Given the description of an element on the screen output the (x, y) to click on. 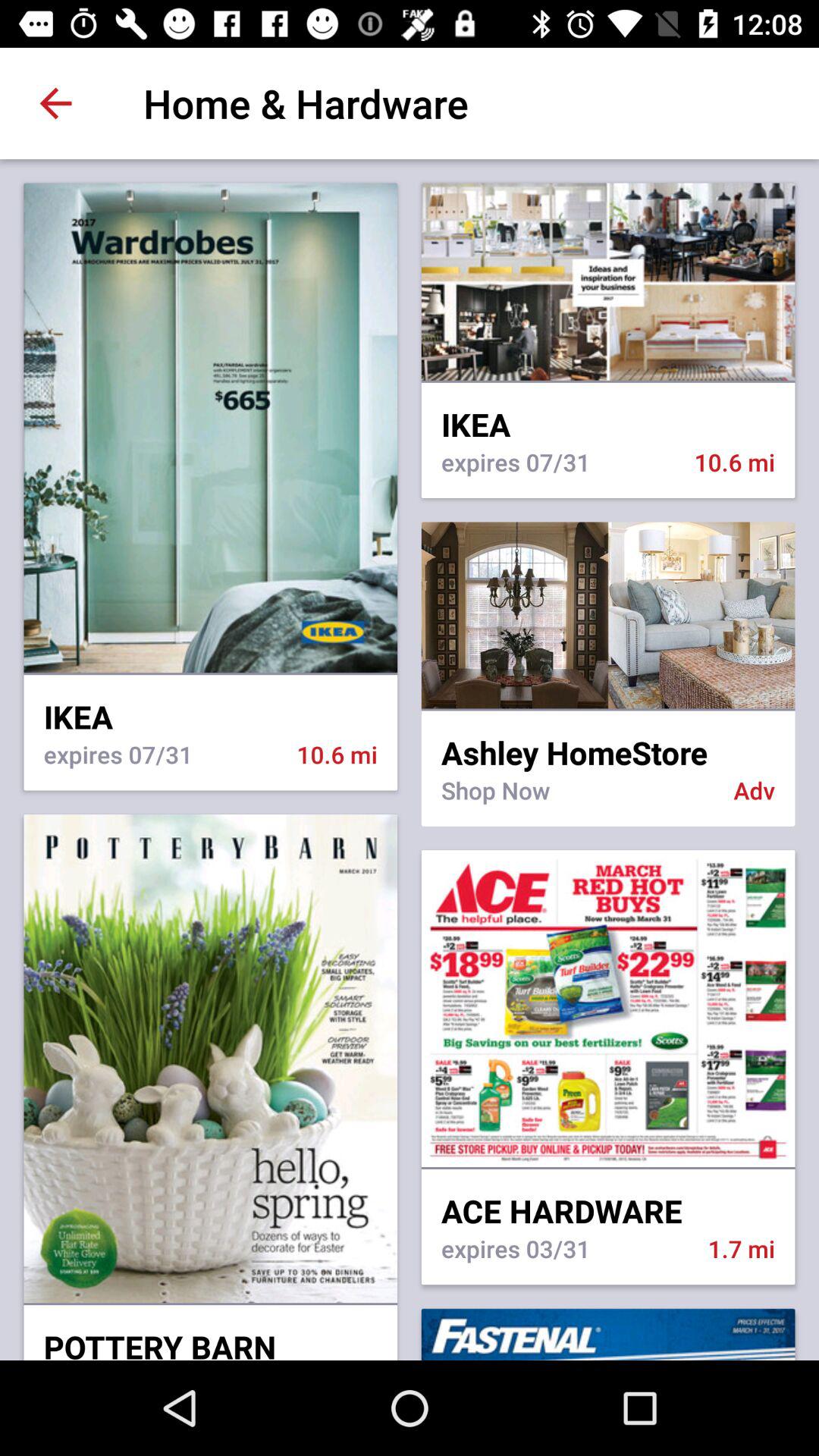
turn on icon to the right of the ikea icon (608, 742)
